Given the description of an element on the screen output the (x, y) to click on. 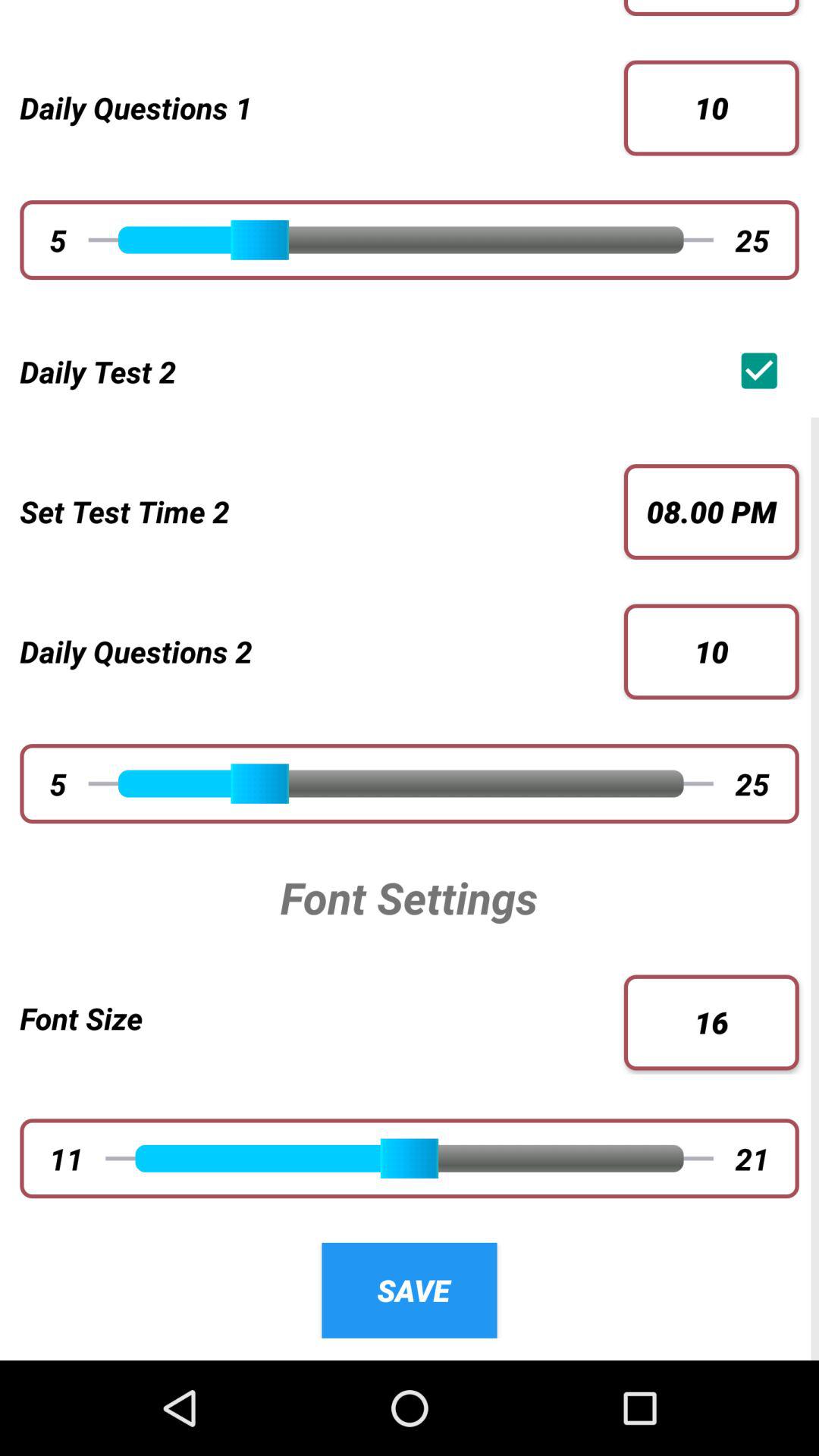
tap the icon next to font size icon (711, 1022)
